Given the description of an element on the screen output the (x, y) to click on. 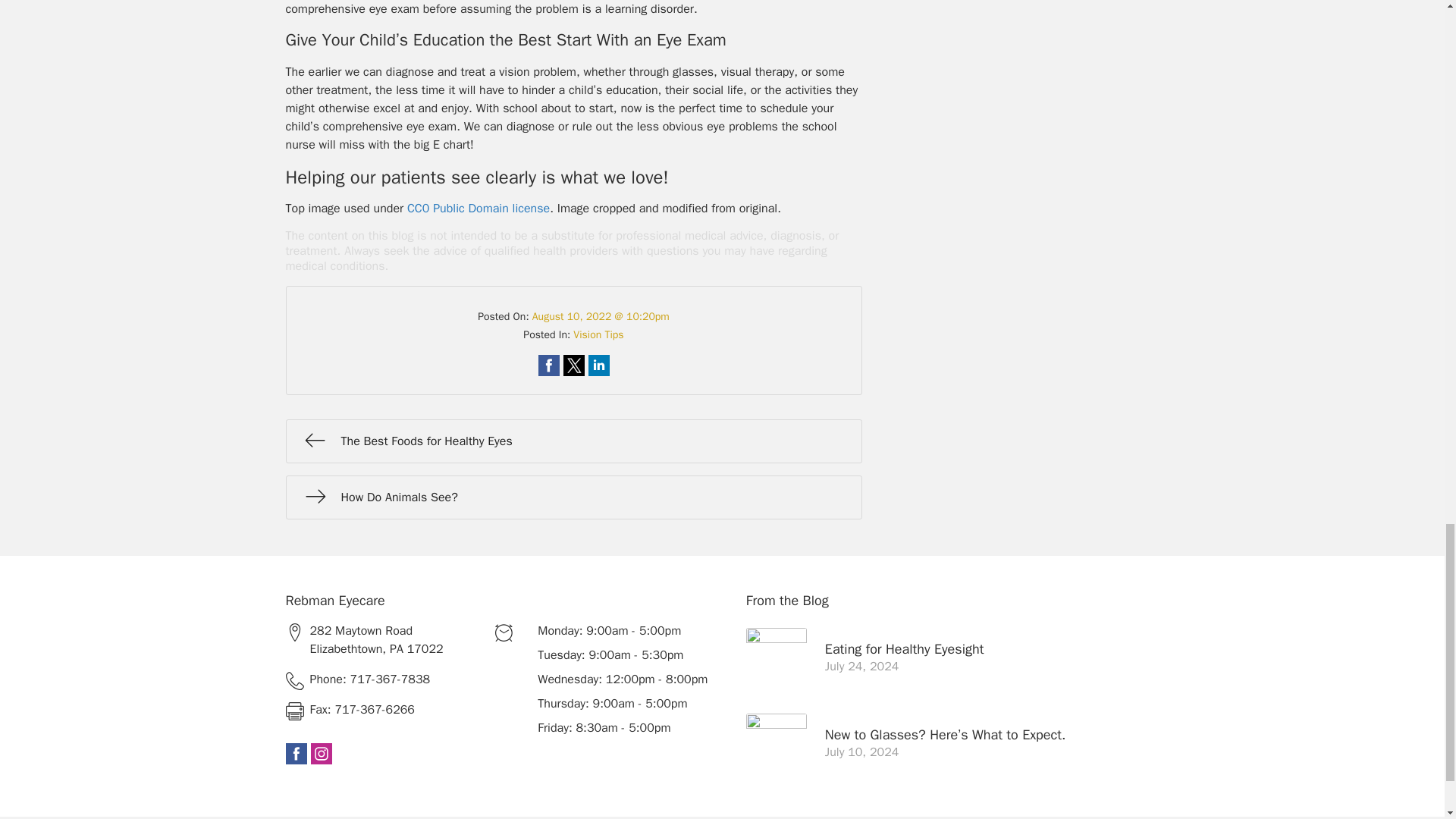
Share on Twitter (572, 364)
Call practice (384, 679)
Go to our Instagram Page (321, 753)
Go to our Facebook Page (295, 753)
CC0 Public Domain license (478, 208)
Share on Facebook (548, 364)
Open this Address on Google Maps (384, 639)
Vision Tips (598, 334)
The Best Foods for Healthy Eyes (573, 441)
Share on Facebook (548, 364)
Share on Twitter (572, 364)
Share on LinkedIn (599, 364)
Share on LinkedIn (599, 364)
How Do Animals See? (573, 497)
